Given the description of an element on the screen output the (x, y) to click on. 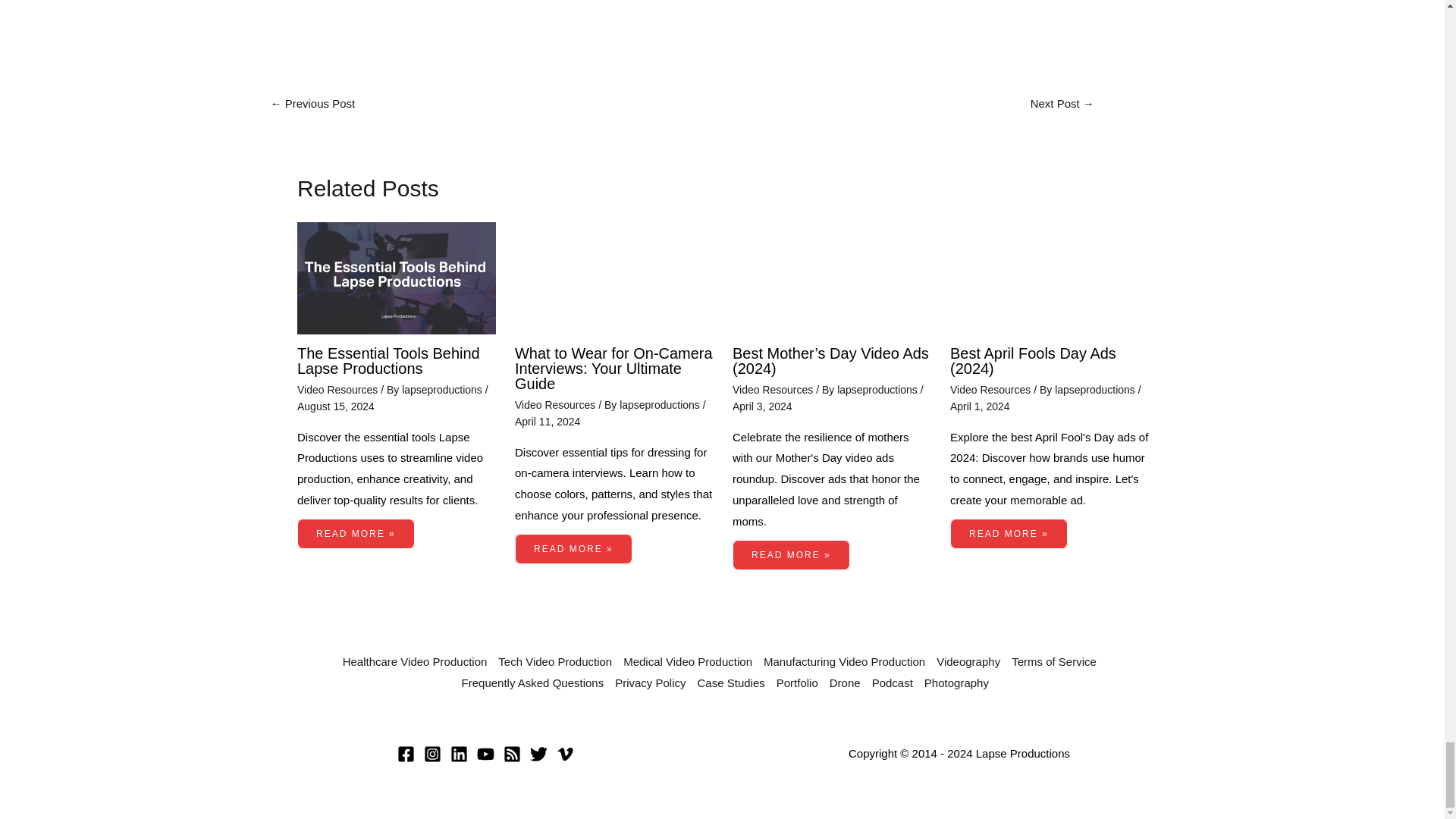
View all posts by lapseproductions (661, 404)
View all posts by lapseproductions (442, 389)
View all posts by lapseproductions (878, 389)
View all posts by lapseproductions (1096, 389)
